Given the description of an element on the screen output the (x, y) to click on. 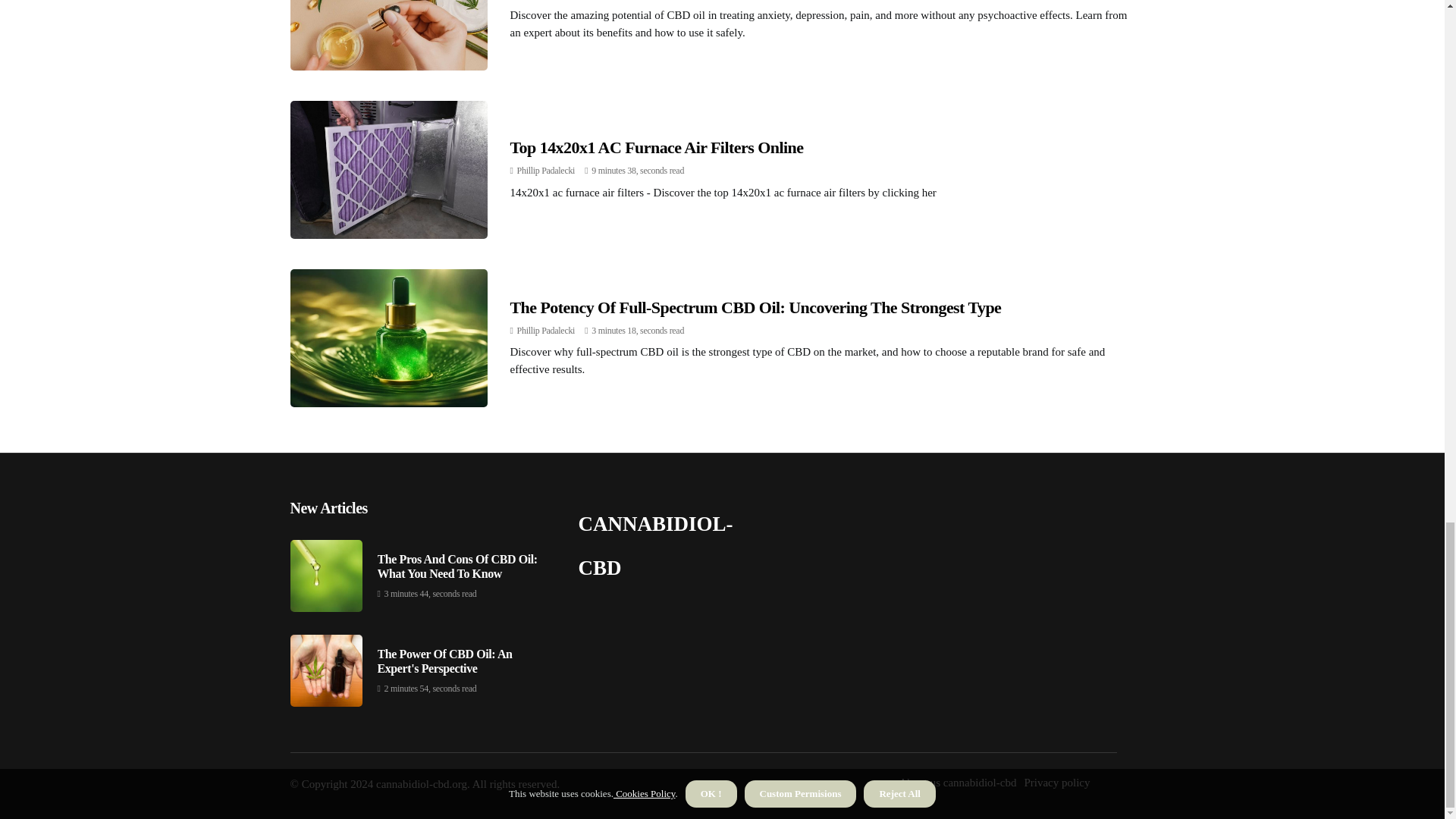
Phillip Padalecki (545, 170)
Phillip Padalecki (545, 330)
Posts by Phillip Padalecki (545, 330)
Top 14x20x1 AC Furnace Air Filters Online (656, 147)
Posts by Phillip Padalecki (545, 170)
